Given the description of an element on the screen output the (x, y) to click on. 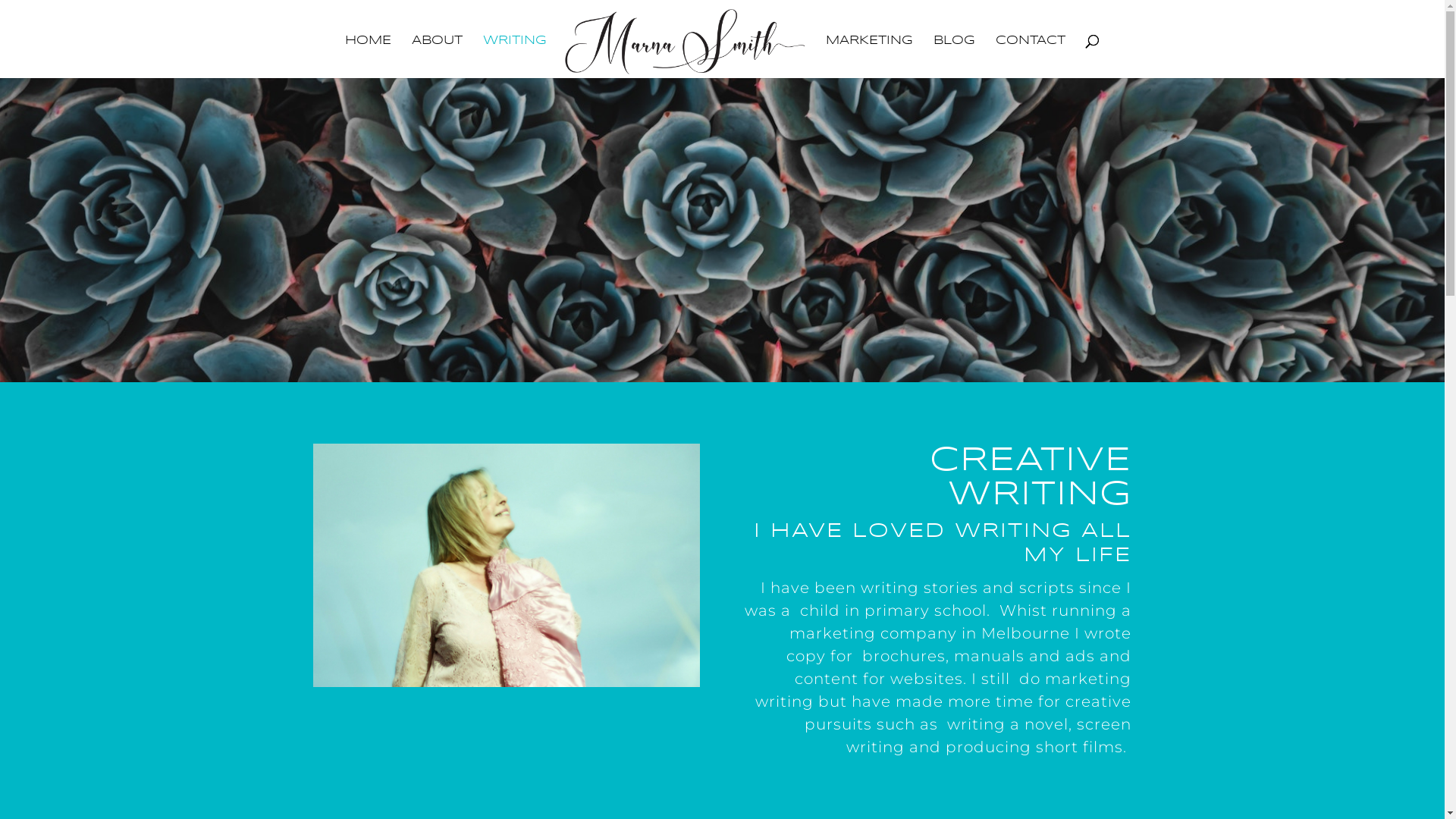
MARKETING Element type: text (869, 56)
ABOUT Element type: text (436, 56)
HOME Element type: text (368, 56)
BLOG Element type: text (954, 56)
CONTACT Element type: text (1030, 56)
WRITING Element type: text (514, 56)
